Given the description of an element on the screen output the (x, y) to click on. 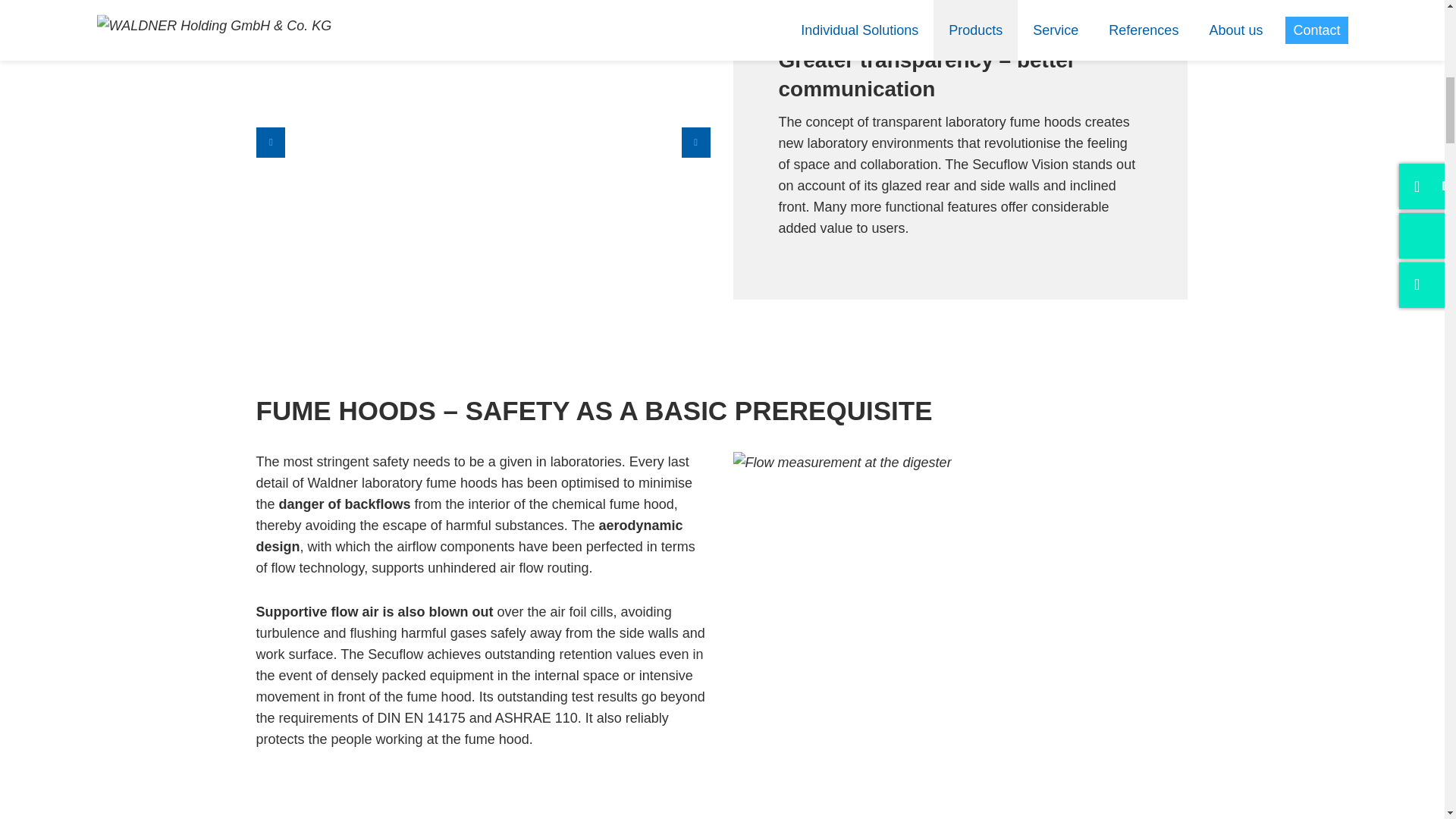
Flow measurement in the laboratory hood (841, 462)
